Given the description of an element on the screen output the (x, y) to click on. 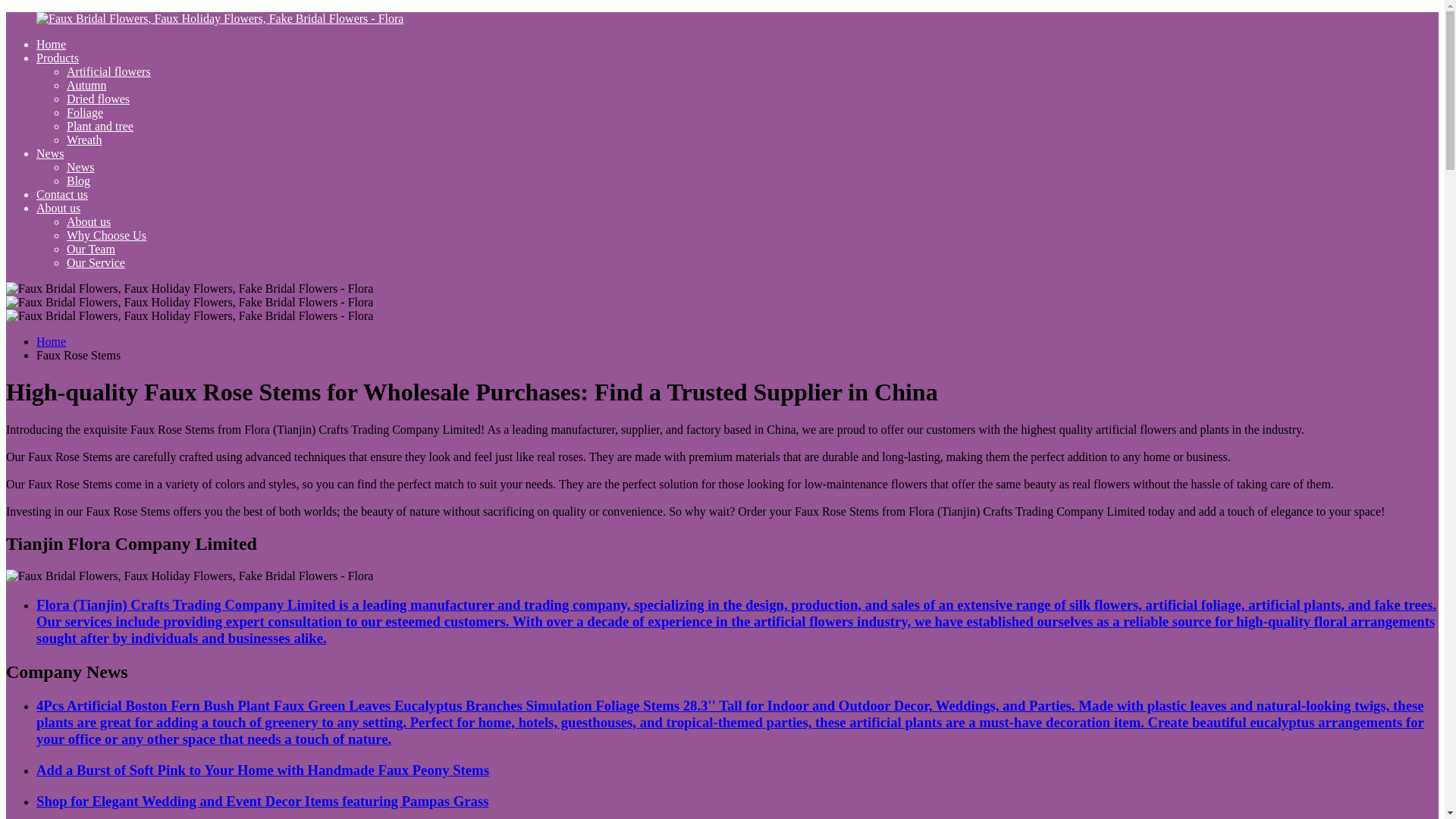
Blog (78, 180)
Dried flowes (97, 98)
Wreath (83, 139)
Artificial flowers (108, 71)
Products (57, 57)
Home (50, 43)
Plant and tree (99, 125)
About us (88, 221)
Why Choose Us (106, 235)
News (80, 166)
Our Service (95, 262)
Home (50, 341)
Contact us (61, 194)
Our Team (90, 248)
Foliage (84, 112)
